Given the description of an element on the screen output the (x, y) to click on. 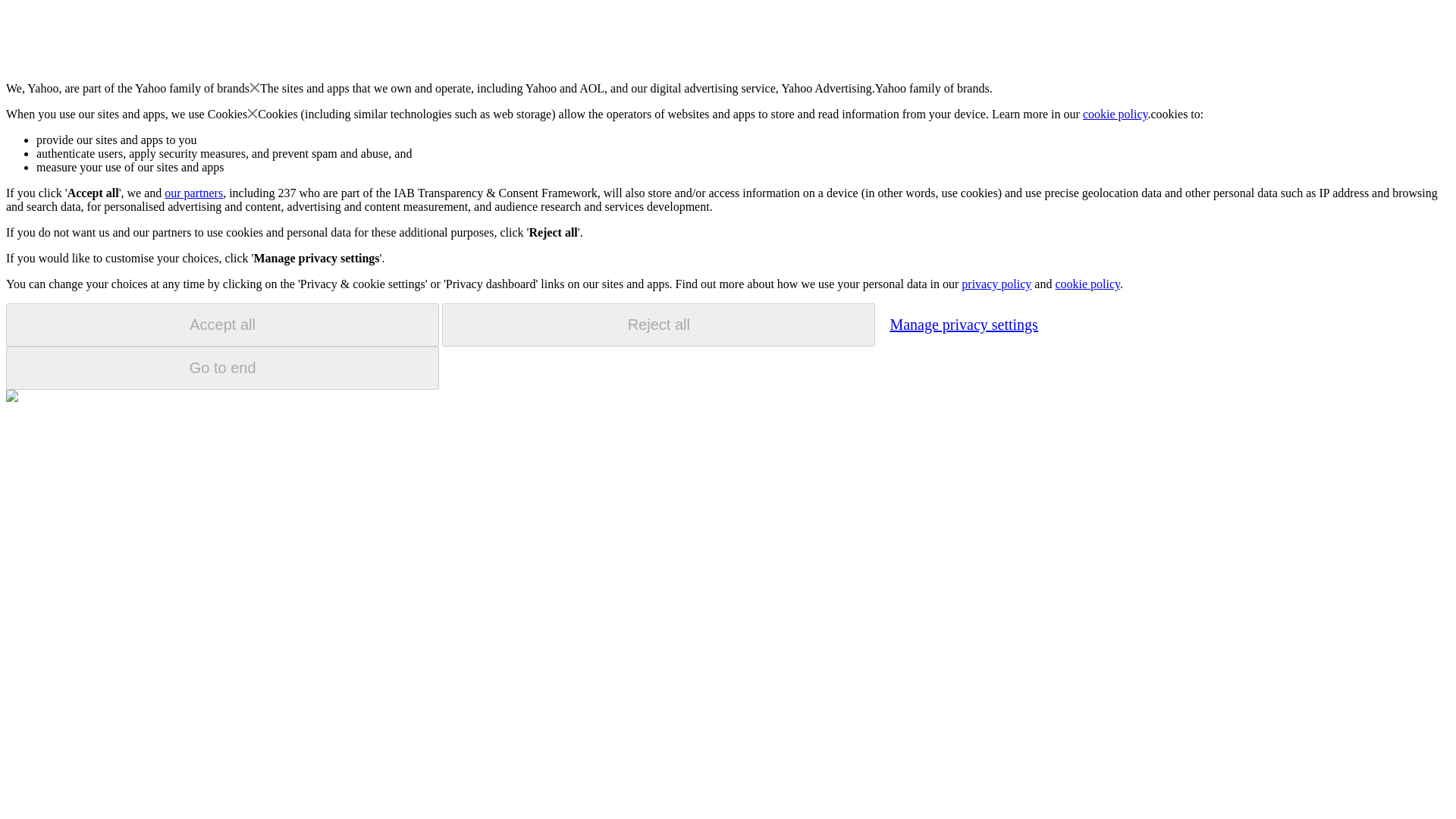
our partners (193, 192)
privacy policy (995, 283)
Go to end (222, 367)
Manage privacy settings (963, 323)
cookie policy (1115, 113)
Reject all (658, 324)
Accept all (222, 324)
cookie policy (1086, 283)
